Given the description of an element on the screen output the (x, y) to click on. 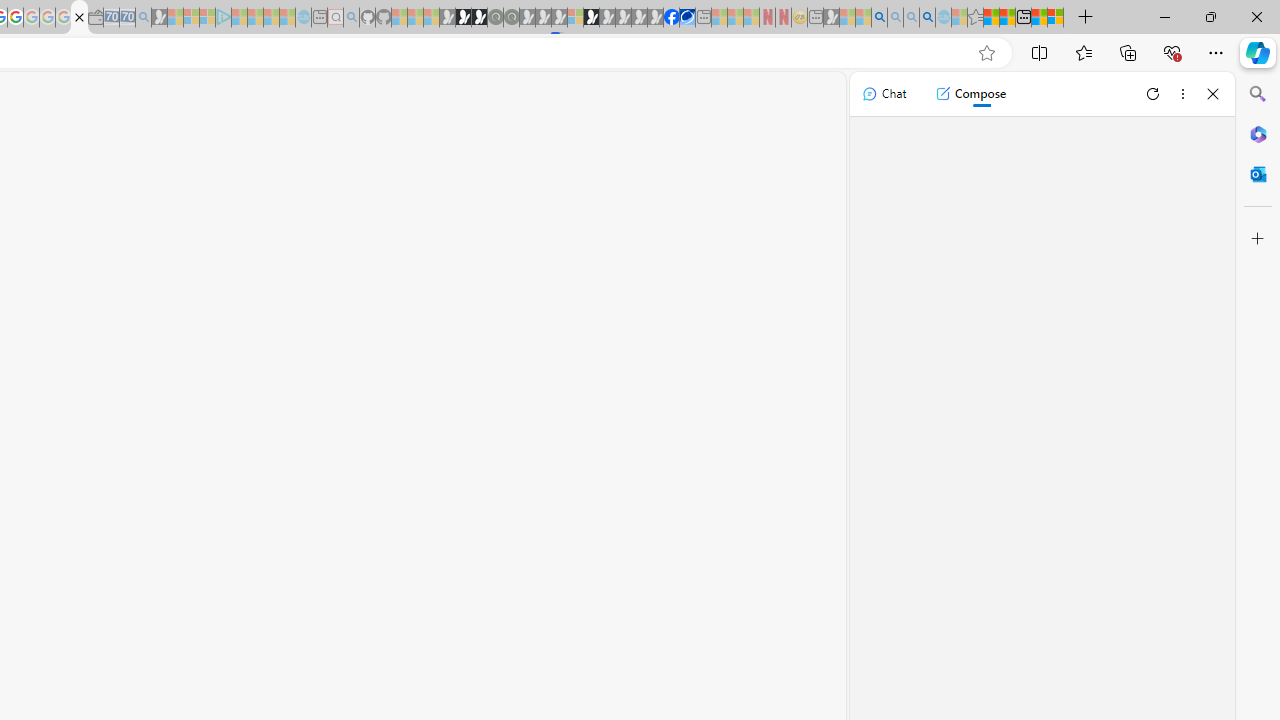
Play Zoo Boom in your browser | Games from Microsoft Start (463, 17)
Home | Sky Blue Bikes - Sky Blue Bikes - Sleeping (303, 17)
Chat (884, 93)
Bing AI - Search (879, 17)
github - Search - Sleeping (351, 17)
Google Chrome Internet Browser Download - Search Images (927, 17)
